Given the description of an element on the screen output the (x, y) to click on. 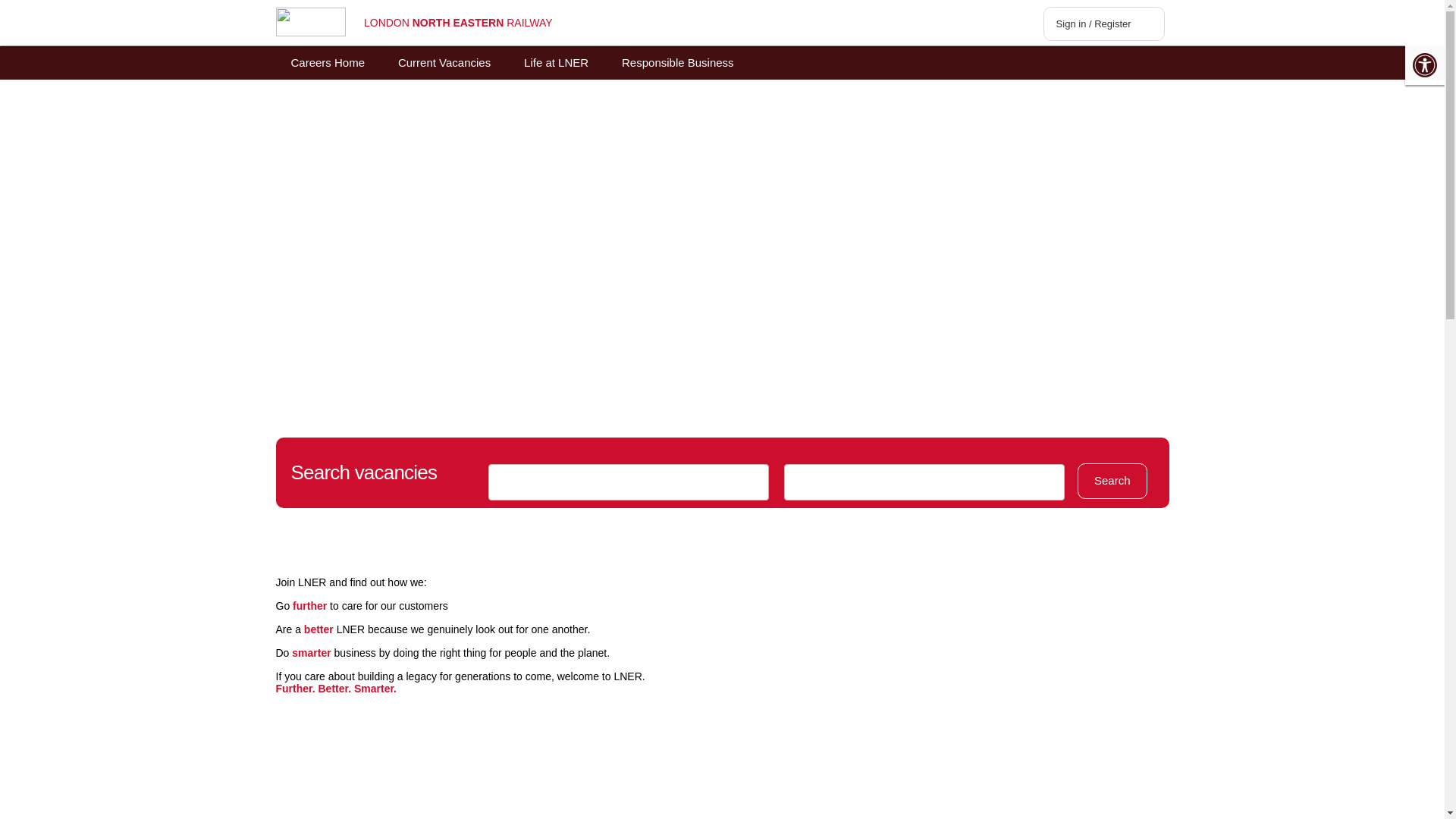
Sign In (1103, 23)
Current Vacancies (443, 63)
Homepage London North Eastern Railway (311, 22)
Search (1112, 480)
Life at LNER (556, 63)
Responsible Business (678, 63)
Careers Home (328, 63)
